Given the description of an element on the screen output the (x, y) to click on. 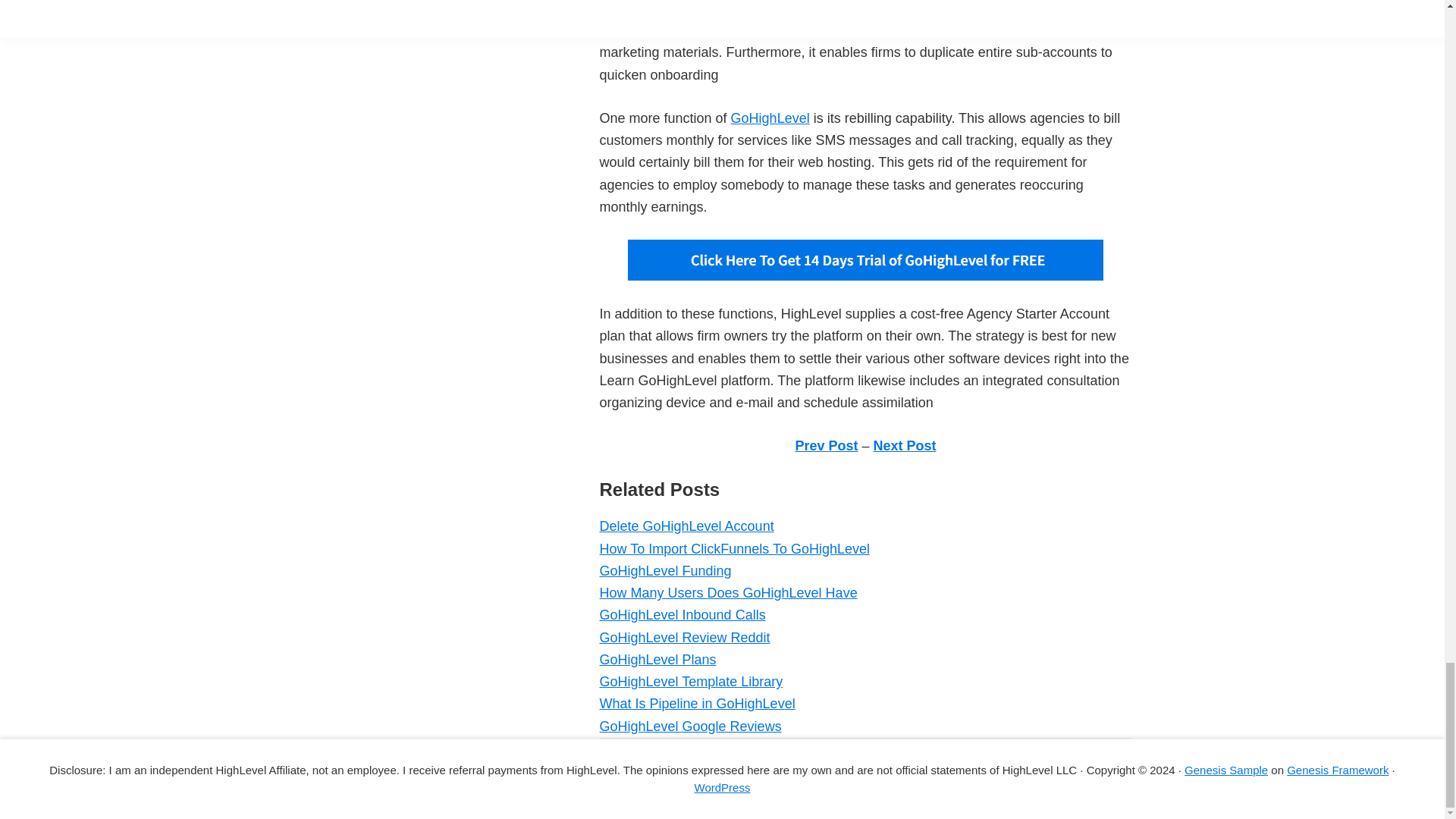
How Many Users Does GoHighLevel Have (727, 592)
What Is Pipeline in GoHighLevel (696, 703)
How Many Users Does GoHighLevel Have (727, 592)
Prev Post (825, 445)
GoHighLevel Inbound Calls (681, 614)
How To Import ClickFunnels To GoHighLevel (733, 548)
GoHighLevel (769, 118)
GoHighLevel Google Reviews (689, 726)
GoHighLevel Funding (664, 570)
GoHighLevel Template Library (690, 681)
